Given the description of an element on the screen output the (x, y) to click on. 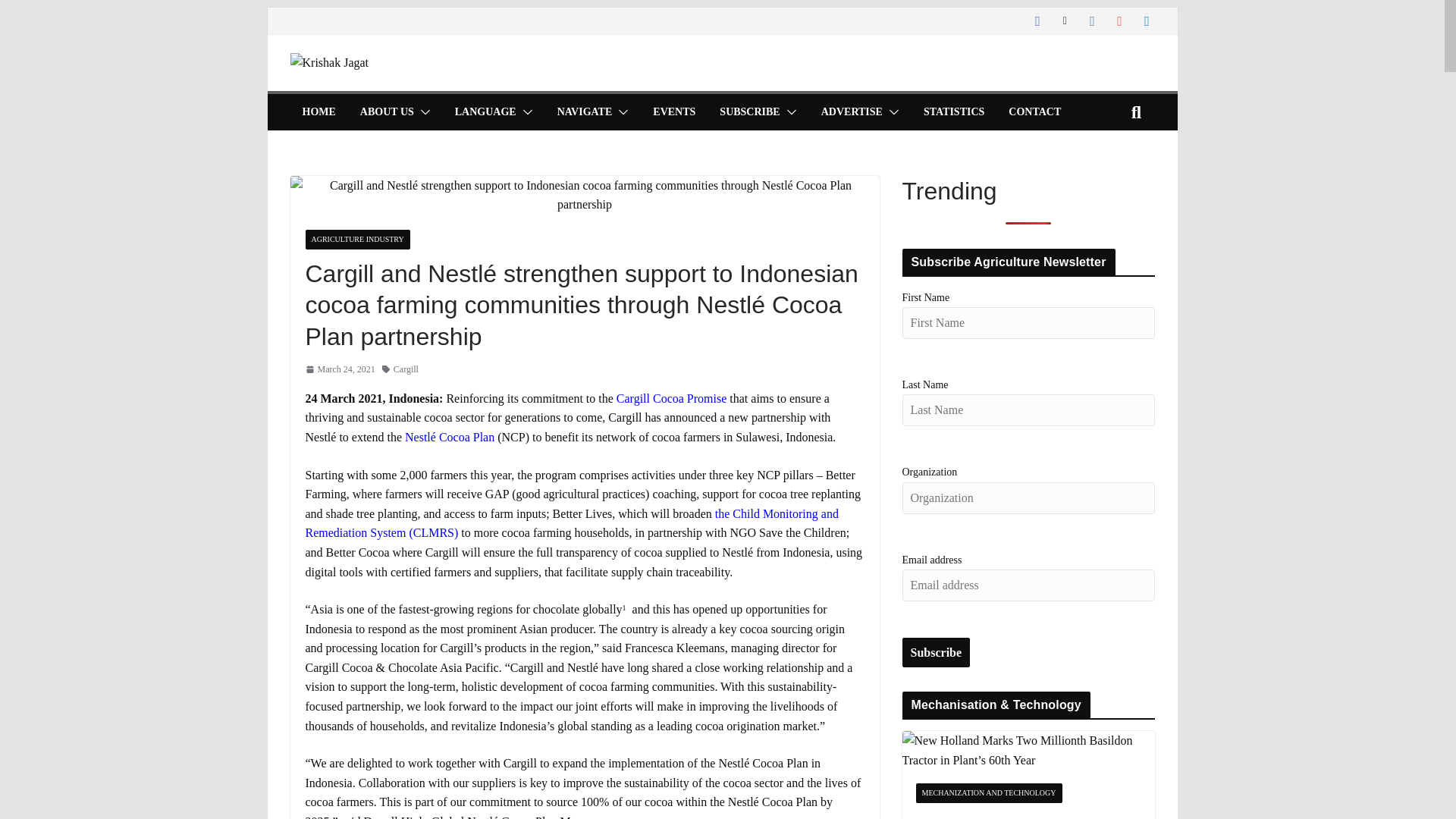
HOME (317, 111)
Subscribe (936, 653)
LANGUAGE (485, 111)
EVENTS (673, 111)
ADVERTISE (851, 111)
11:03 pm (339, 369)
SUBSCRIBE (748, 111)
NAVIGATE (584, 111)
ABOUT US (386, 111)
